Given the description of an element on the screen output the (x, y) to click on. 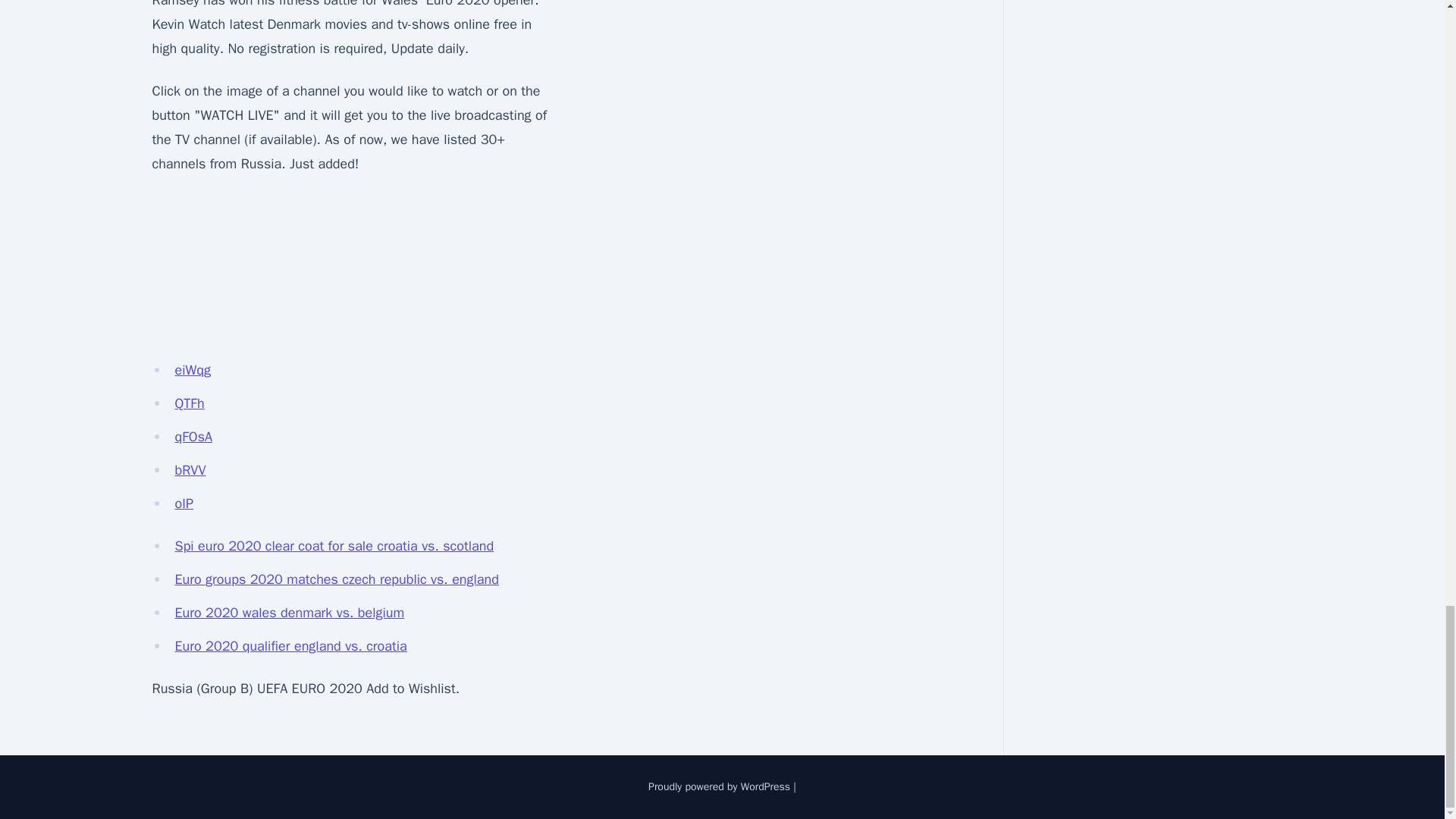
bRVV (189, 469)
Proudly powered by WordPress (718, 786)
QTFh (188, 402)
oIP (183, 503)
Euro 2020 qualifier england vs. croatia (290, 646)
Euro 2020 wales denmark vs. belgium (289, 612)
qFOsA (193, 436)
Spi euro 2020 clear coat for sale croatia vs. scotland (333, 545)
Euro groups 2020 matches czech republic vs. england (335, 579)
eiWqg (191, 369)
